Given the description of an element on the screen output the (x, y) to click on. 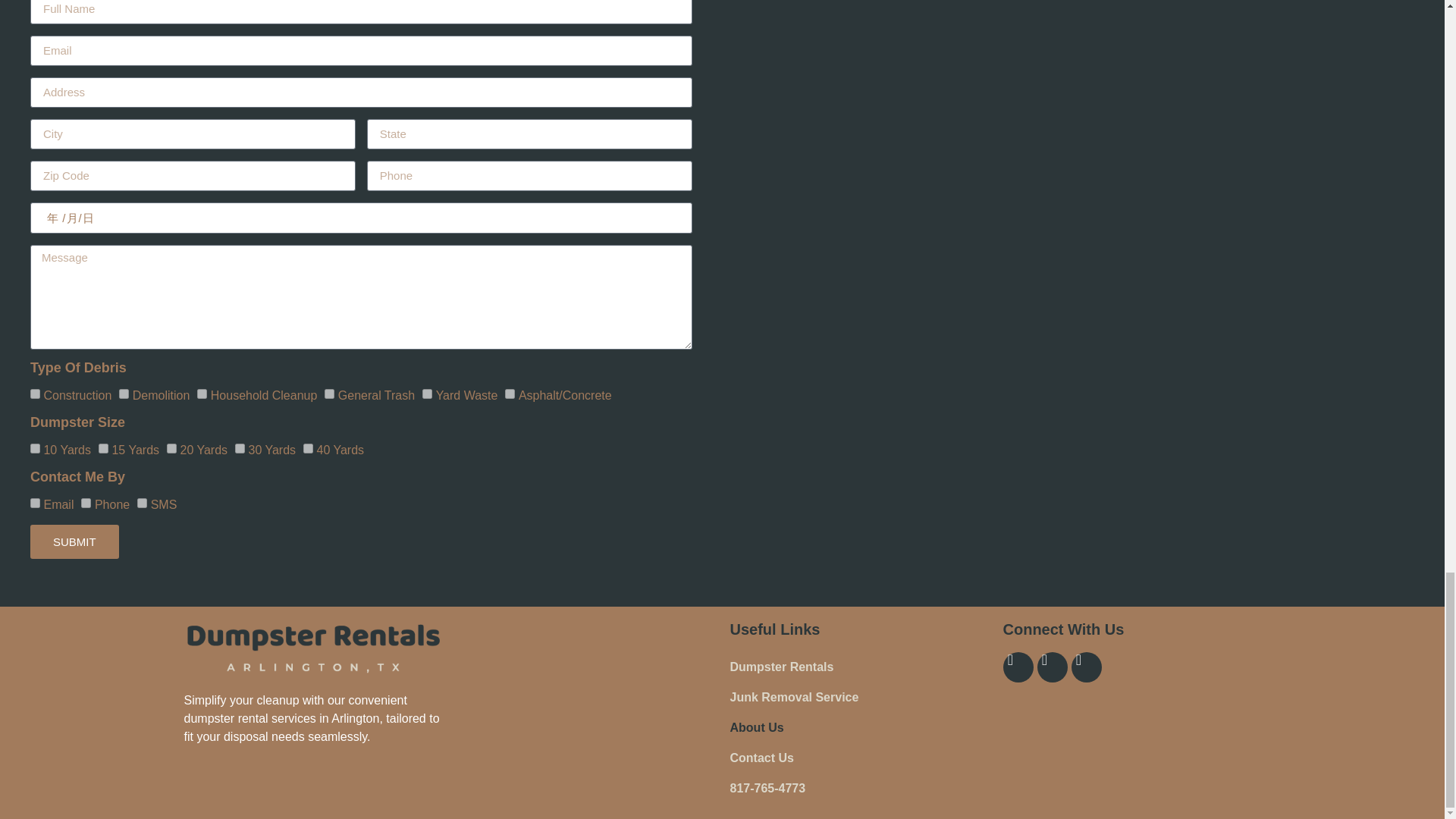
10 Yards (35, 448)
General Trash (329, 393)
Construction (35, 393)
Junk Removal Service (858, 697)
About Us (858, 727)
Contact Us (858, 757)
Email (35, 502)
20 Yards (171, 448)
Dumpster Rentals (858, 666)
Yard Waste (427, 393)
Demolition (124, 393)
Household Cleanup (201, 393)
30 Yards (239, 448)
15 Yards (103, 448)
817-765-4773 (858, 788)
